Given the description of an element on the screen output the (x, y) to click on. 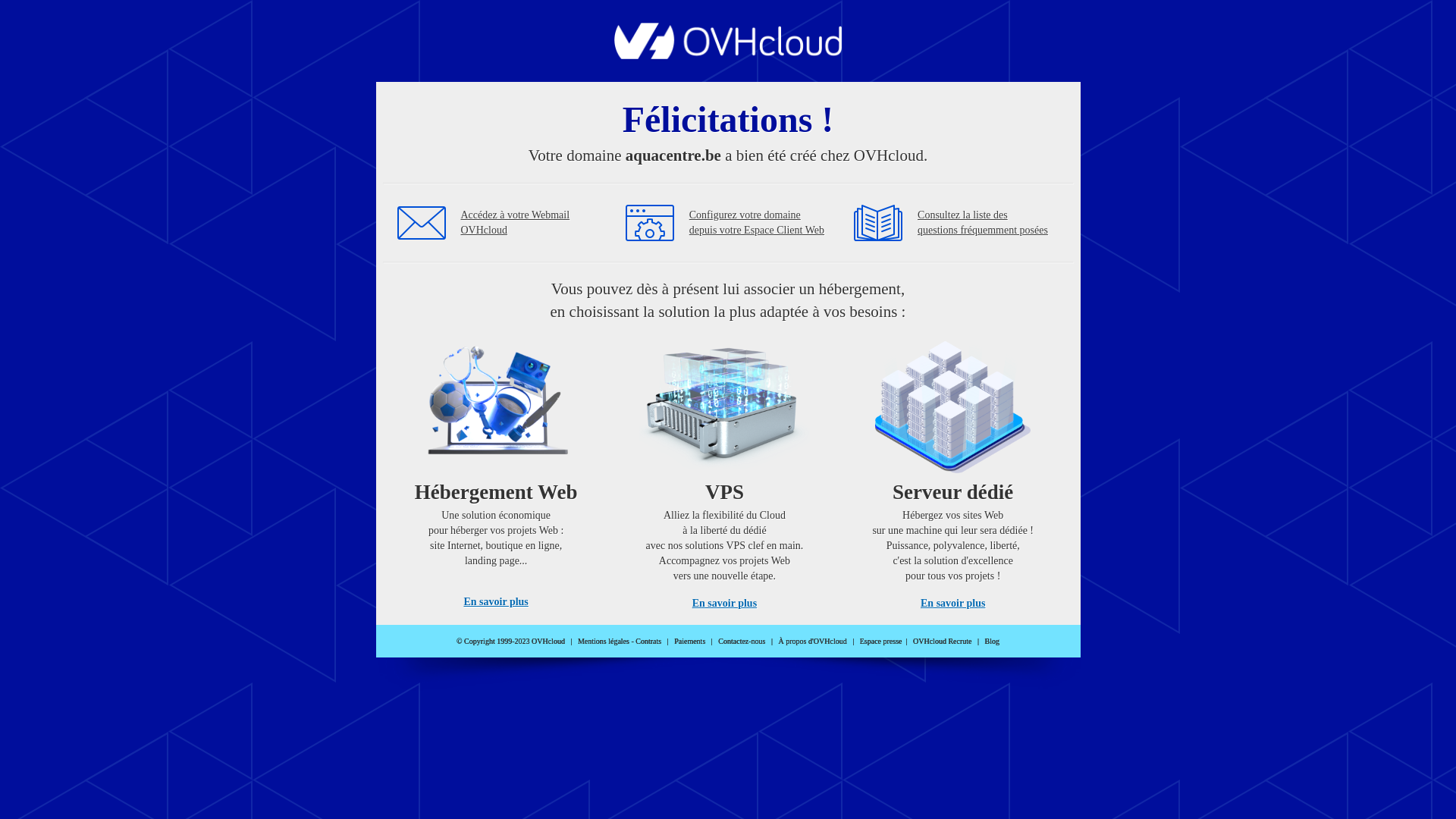
En savoir plus Element type: text (724, 602)
OVHcloud Element type: hover (727, 54)
En savoir plus Element type: text (495, 601)
Paiements Element type: text (689, 641)
Espace presse Element type: text (880, 641)
Configurez votre domaine
depuis votre Espace Client Web Element type: text (756, 222)
En savoir plus Element type: text (952, 602)
VPS Element type: hover (724, 469)
OVHcloud Recrute Element type: text (942, 641)
Contactez-nous Element type: text (741, 641)
Blog Element type: text (992, 641)
